Given the description of an element on the screen output the (x, y) to click on. 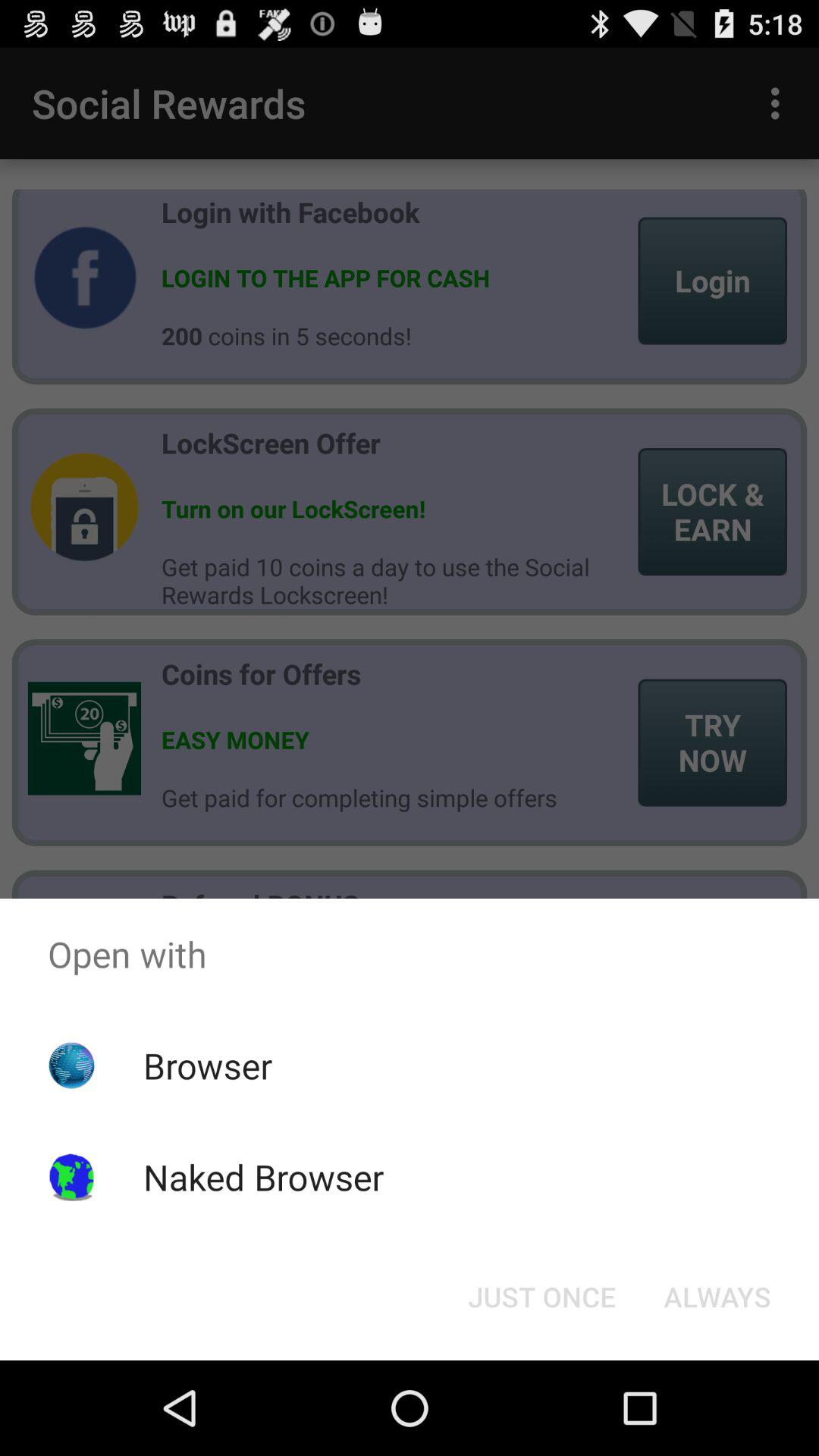
jump to just once item (541, 1296)
